Given the description of an element on the screen output the (x, y) to click on. 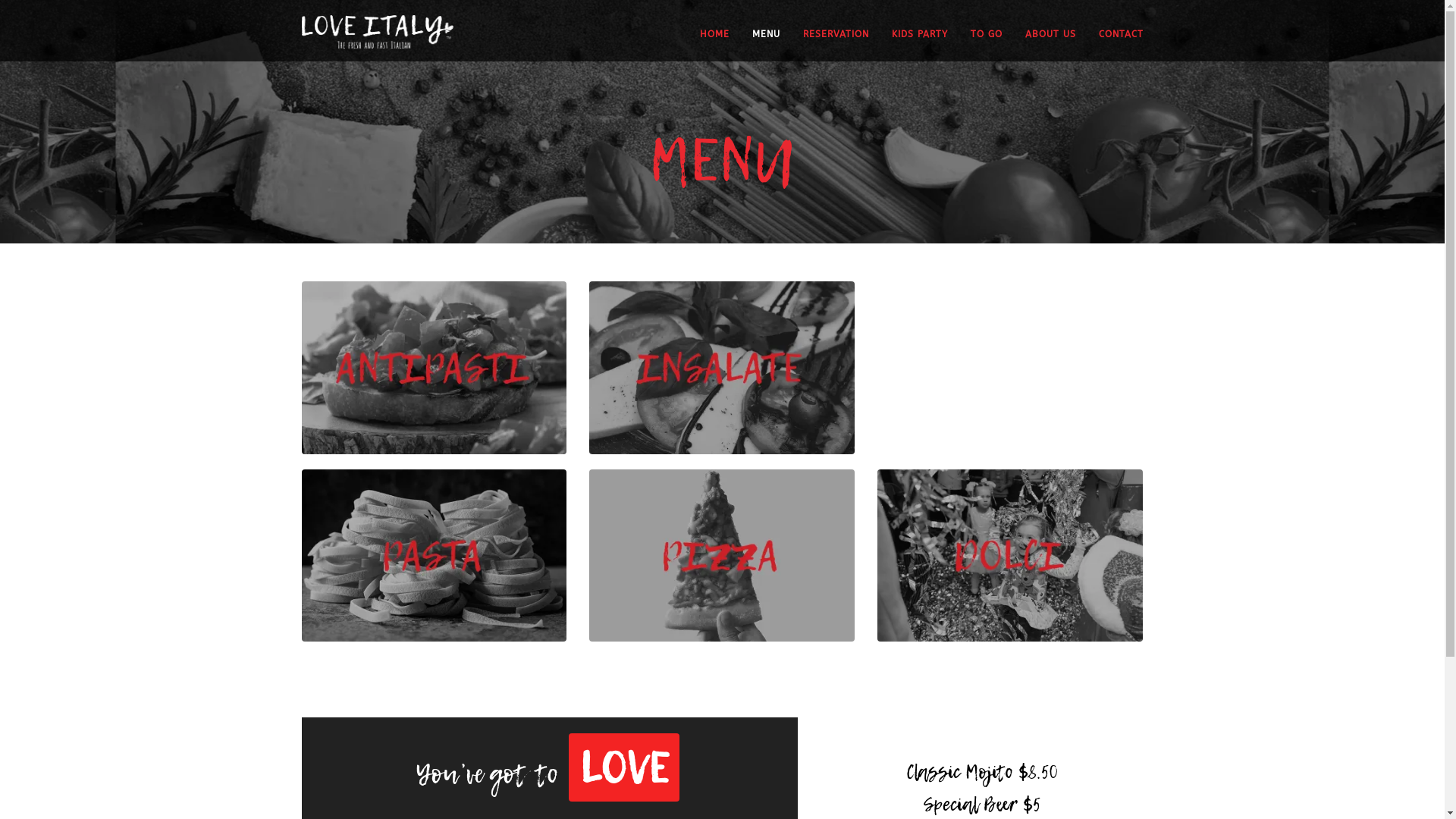
ABOUT US Element type: text (1039, 43)
TO GO Element type: text (974, 43)
HOME Element type: text (713, 43)
CONTACT Element type: text (1108, 43)
MENU Element type: text (754, 43)
KIDS PARTY Element type: text (908, 43)
RESERVATION Element type: text (823, 43)
